Given the description of an element on the screen output the (x, y) to click on. 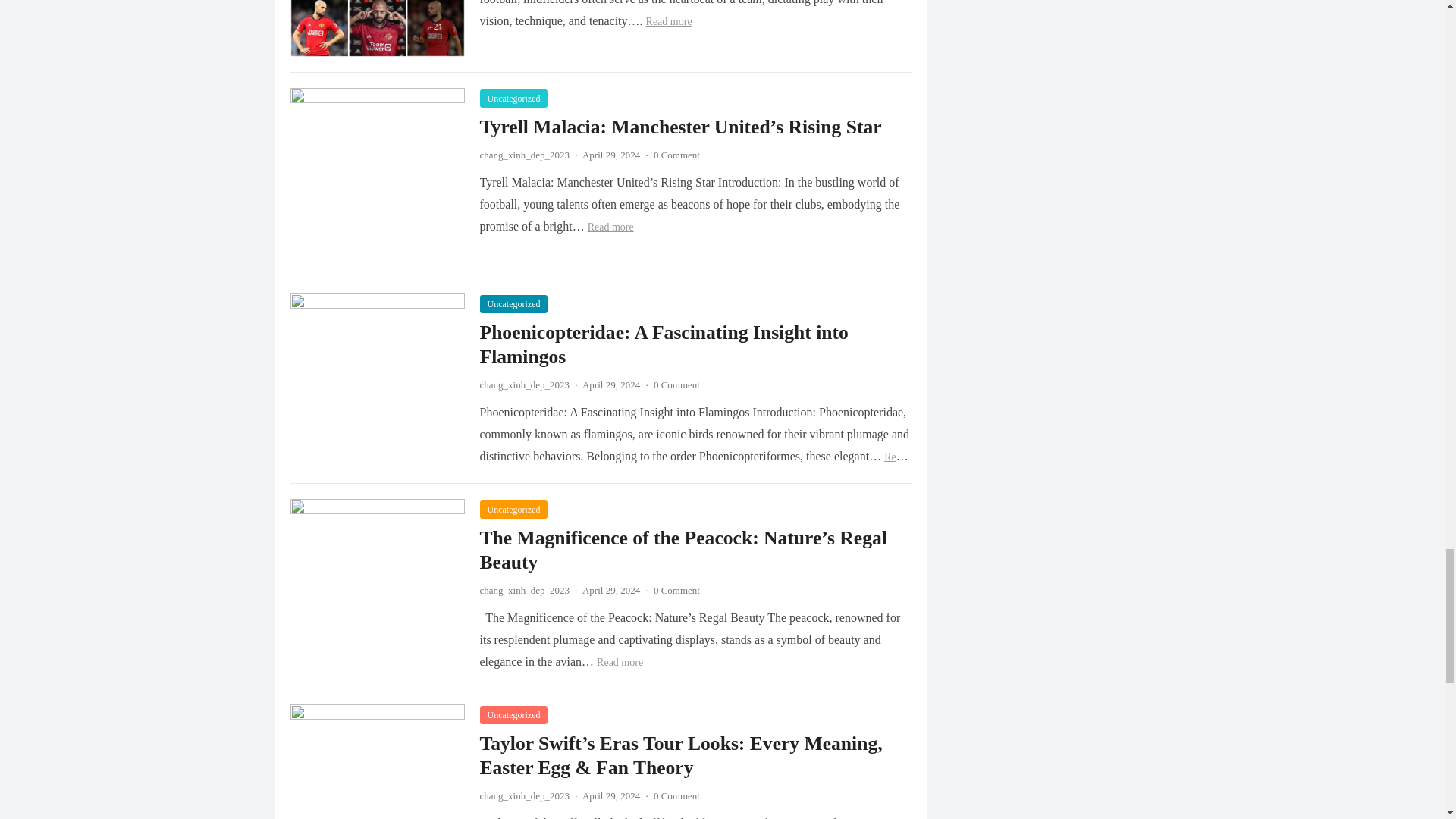
0 Comment (676, 154)
Uncategorized (513, 98)
Phoenicopteridae: A Fascinating Insight into Flamingos (663, 344)
Uncategorized (513, 303)
Read more (669, 21)
Read more (610, 226)
